Given the description of an element on the screen output the (x, y) to click on. 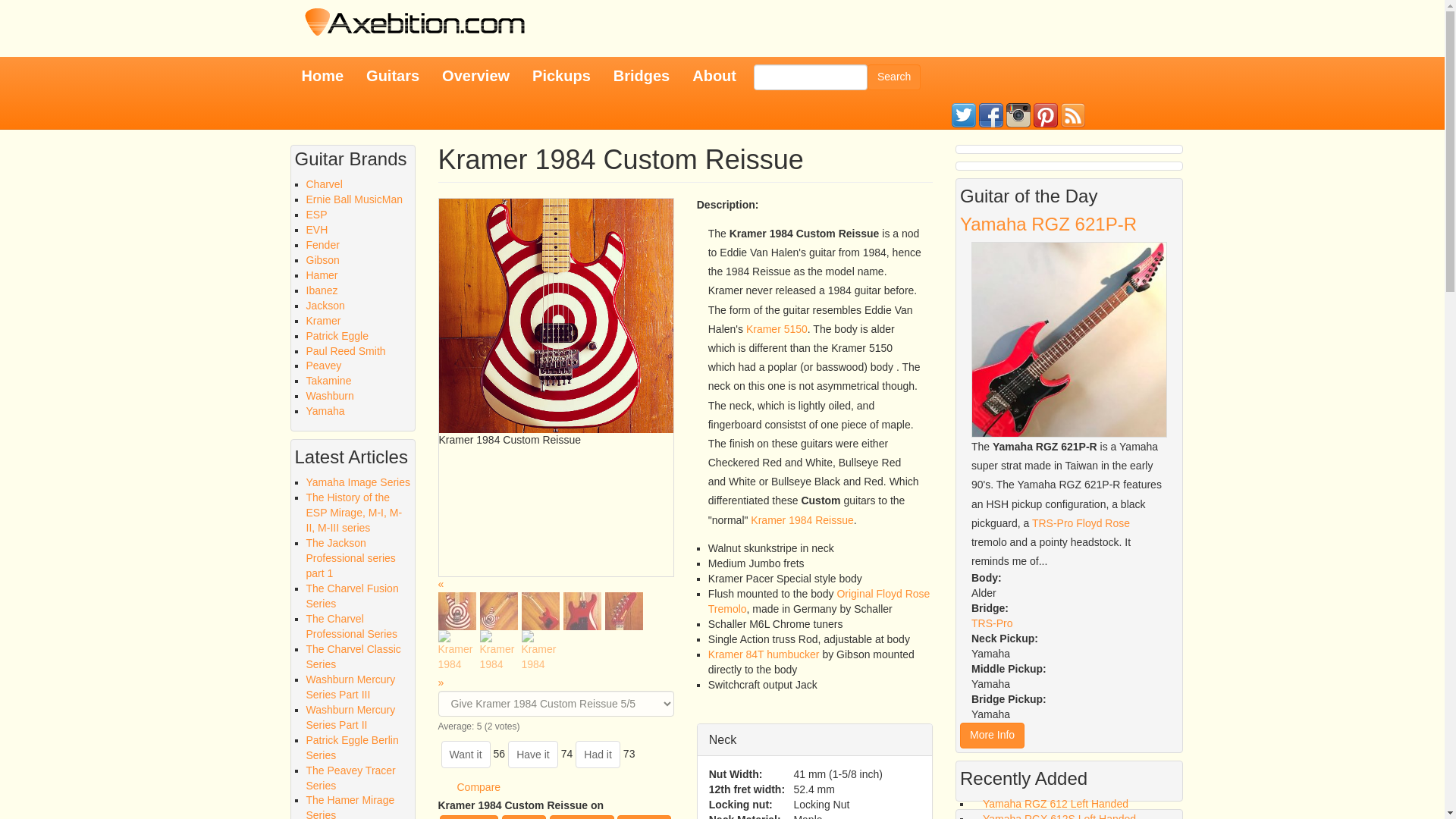
Gibson (322, 259)
Visit Axebition on Twitter (962, 114)
Enter the terms you wish to search for. (810, 77)
ESP (316, 214)
Subscribe to via RSS (1071, 114)
Paul Reed Smith (345, 349)
Charvel (323, 184)
Search (893, 77)
Ernie Ball MusicMan (354, 199)
Guitars (392, 75)
About Axebition (714, 75)
The History of the ESP Mirage, M-I, M-II, M-III series (357, 513)
The Charvel Fusion Series (357, 596)
Takamine (328, 380)
Visit axebition on Facebook (990, 114)
